Given the description of an element on the screen output the (x, y) to click on. 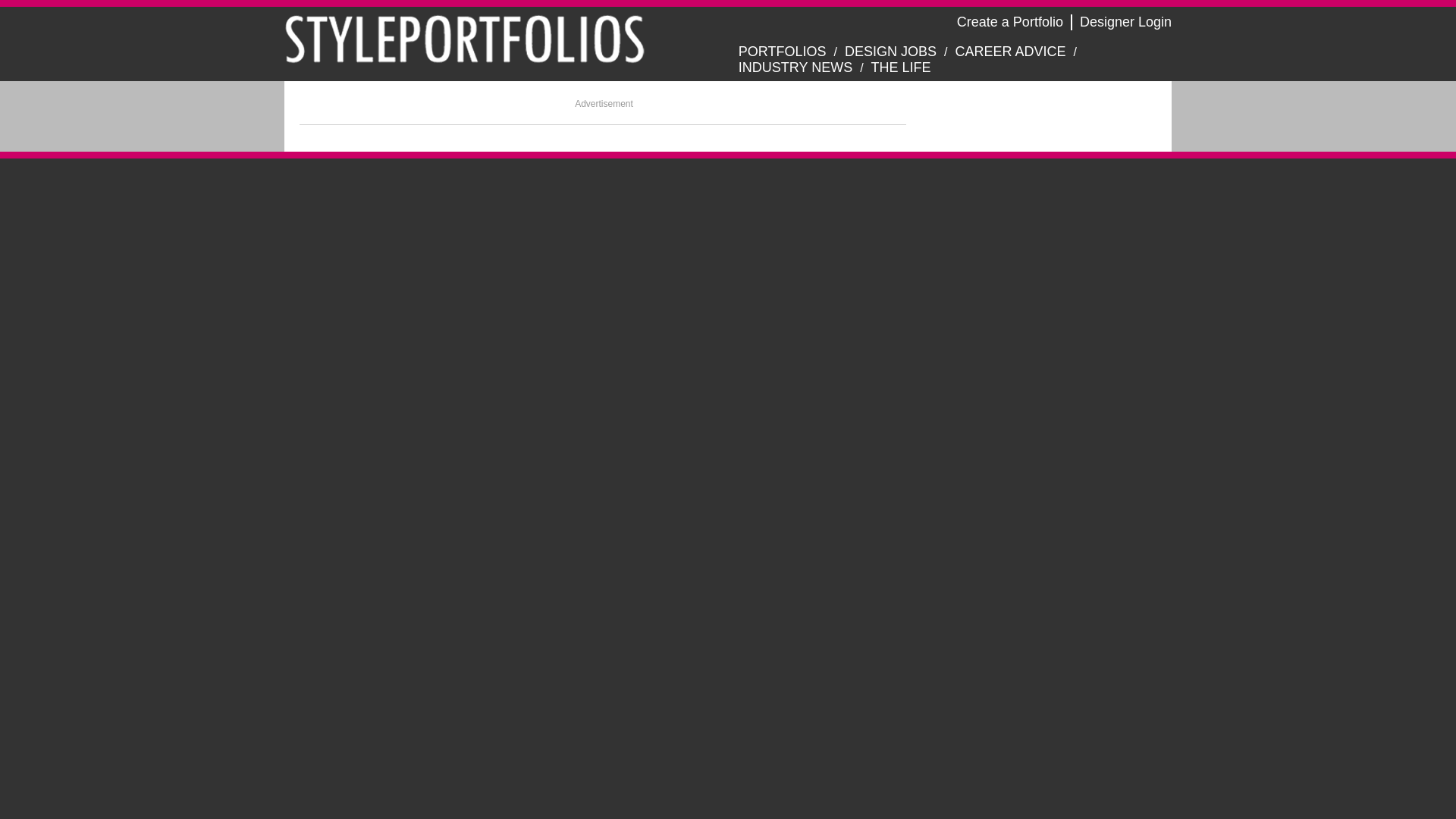
THE LIFE (900, 67)
Create a Portfolio (1009, 21)
PORTFOLIOS (782, 51)
DESIGN JOBS (890, 51)
Designer Login (1126, 21)
CAREER ADVICE (1010, 51)
INDUSTRY NEWS (794, 67)
